Given the description of an element on the screen output the (x, y) to click on. 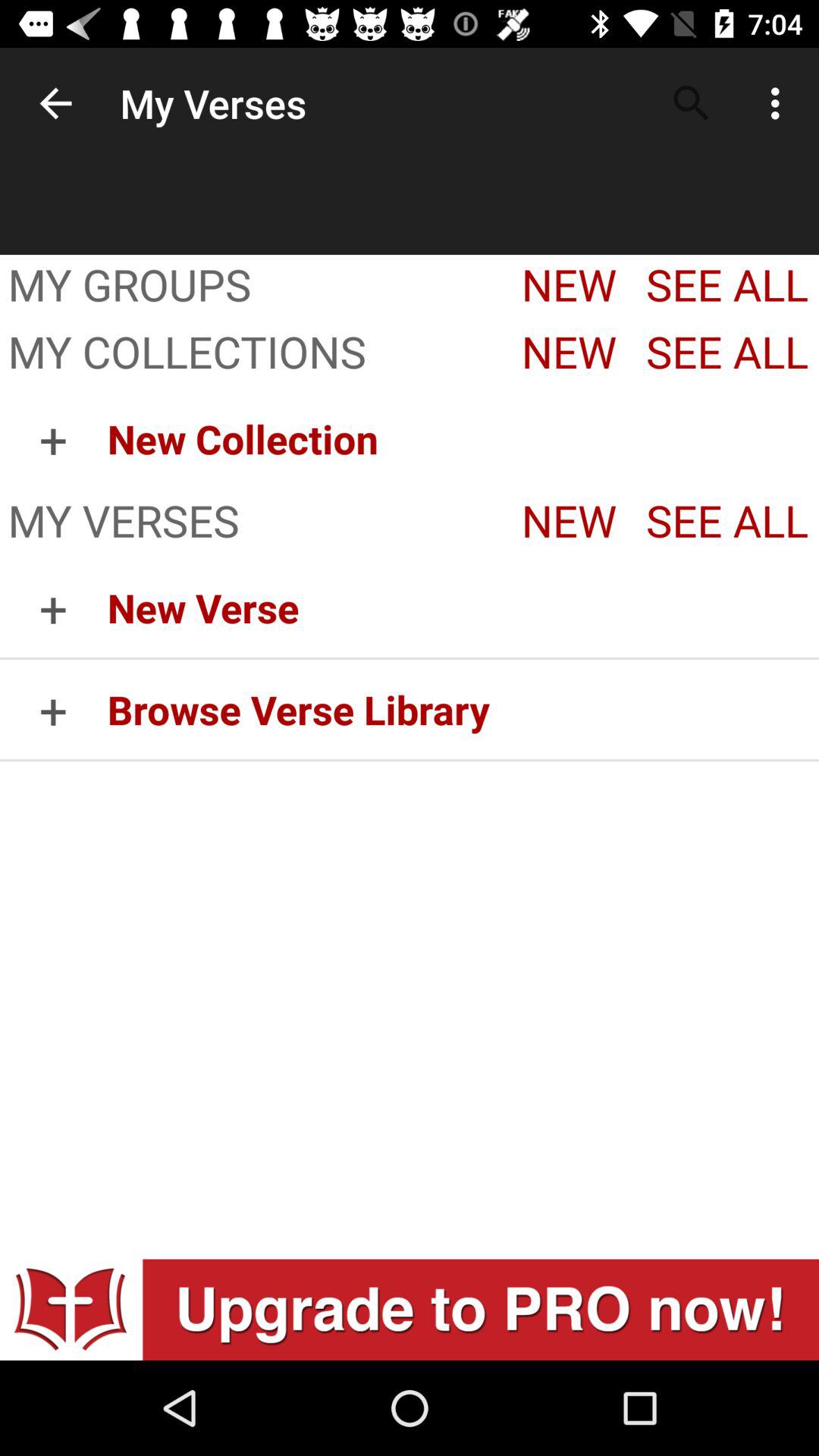
jump until the new verse icon (463, 607)
